Given the description of an element on the screen output the (x, y) to click on. 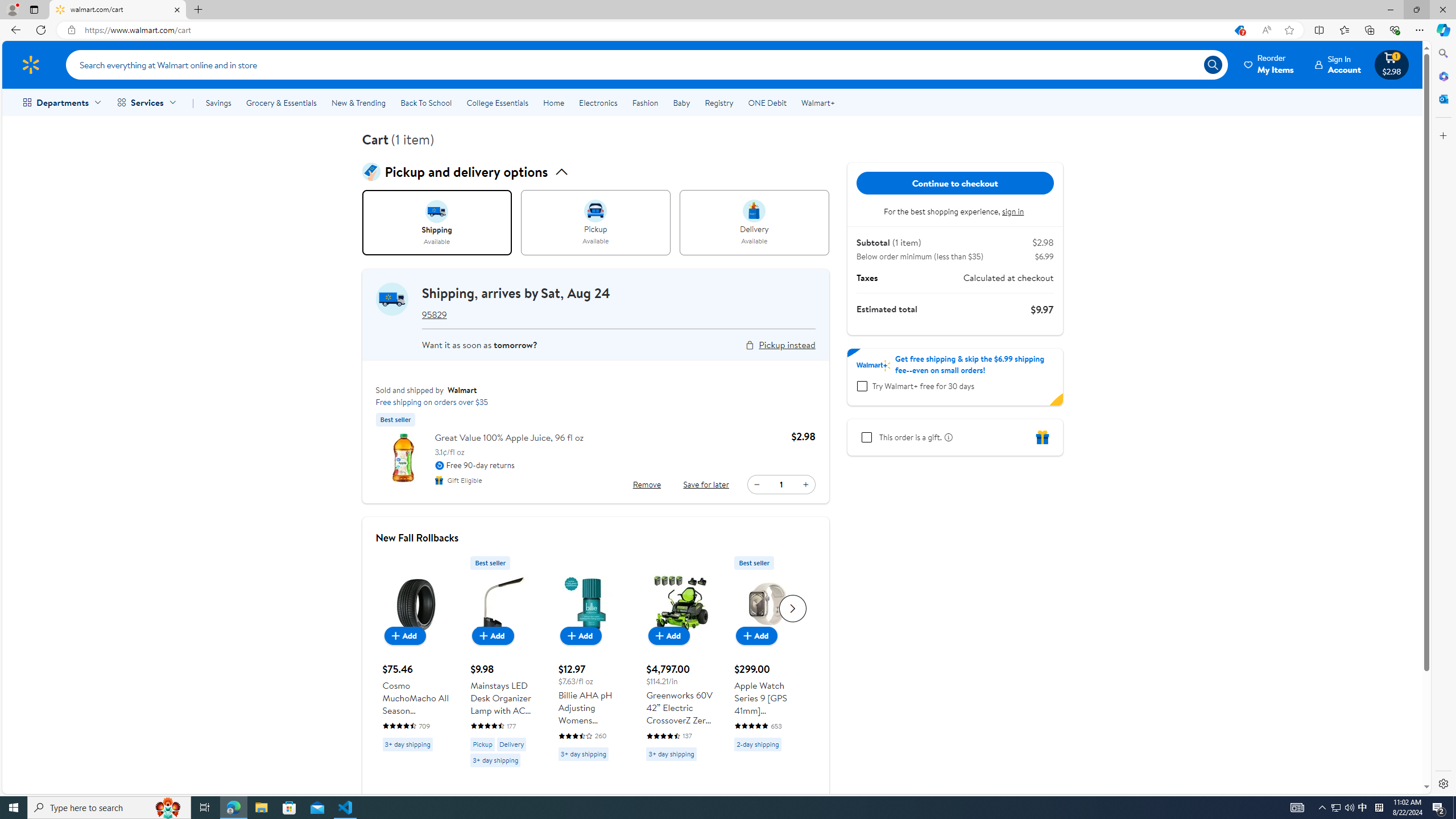
Walmart Homepage (30, 64)
Reorder My Items (1269, 64)
Registry (718, 102)
